Given the description of an element on the screen output the (x, y) to click on. 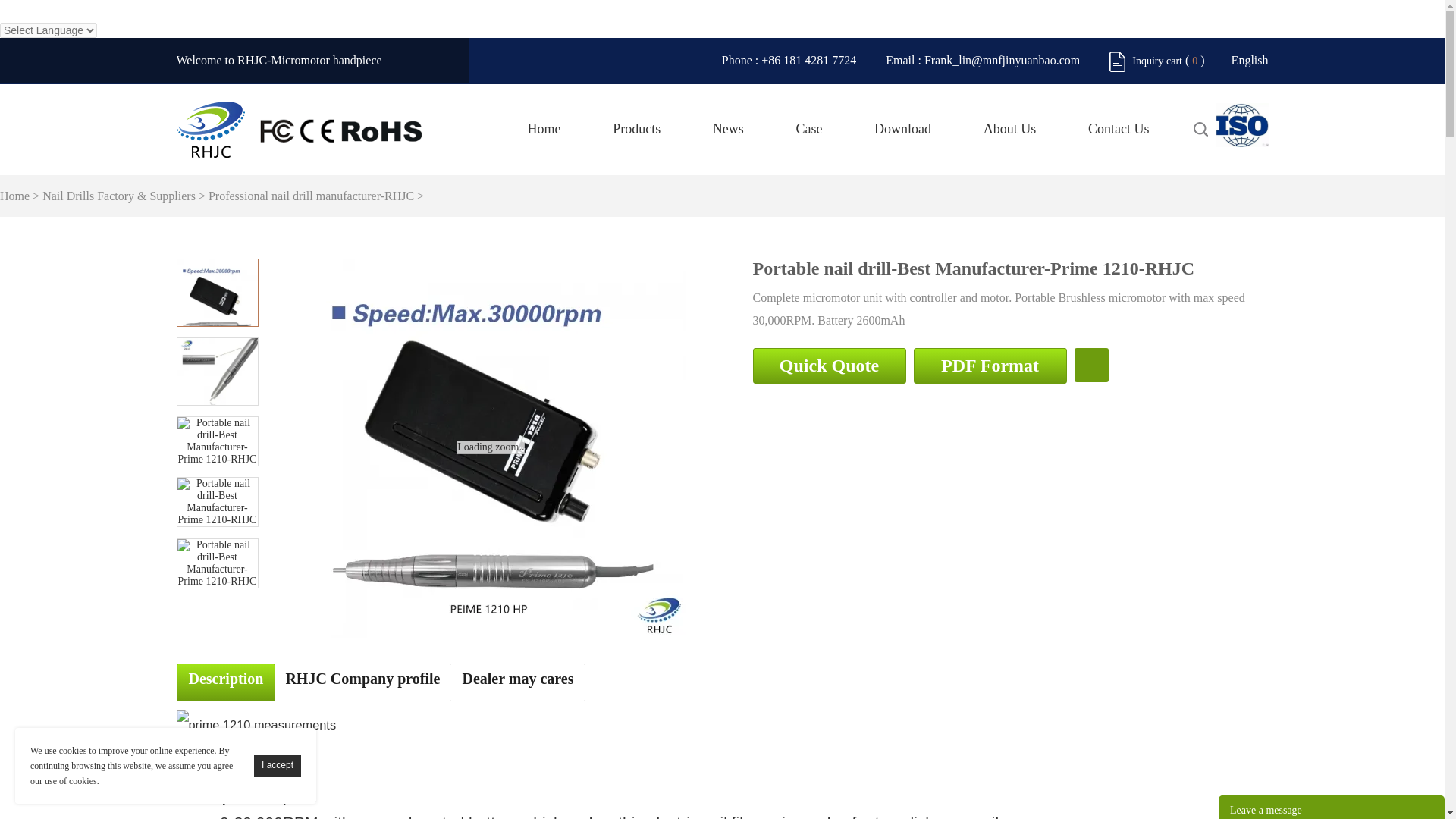
I accept (277, 765)
